Given the description of an element on the screen output the (x, y) to click on. 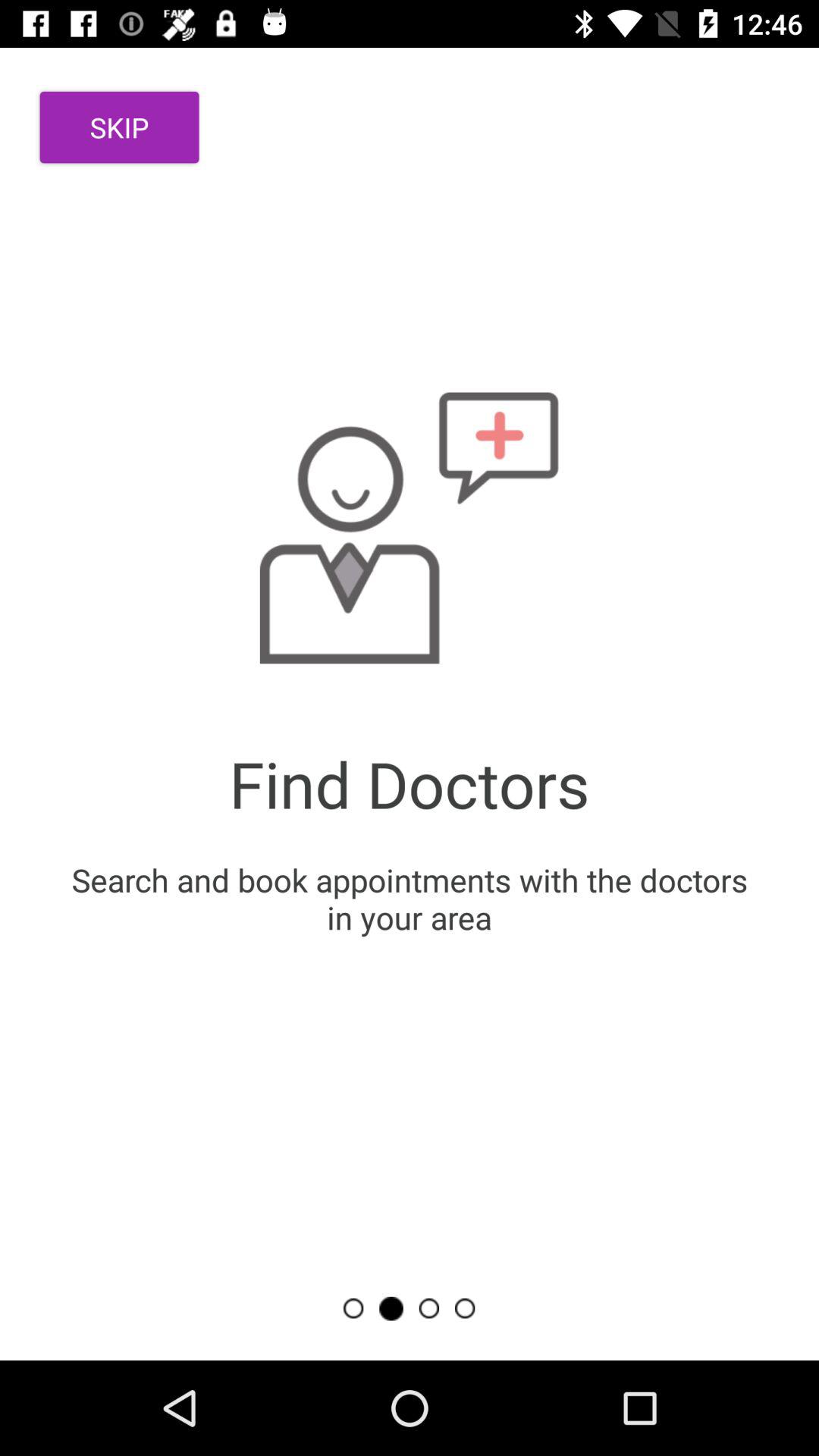
launch the skip item (119, 127)
